Given the description of an element on the screen output the (x, y) to click on. 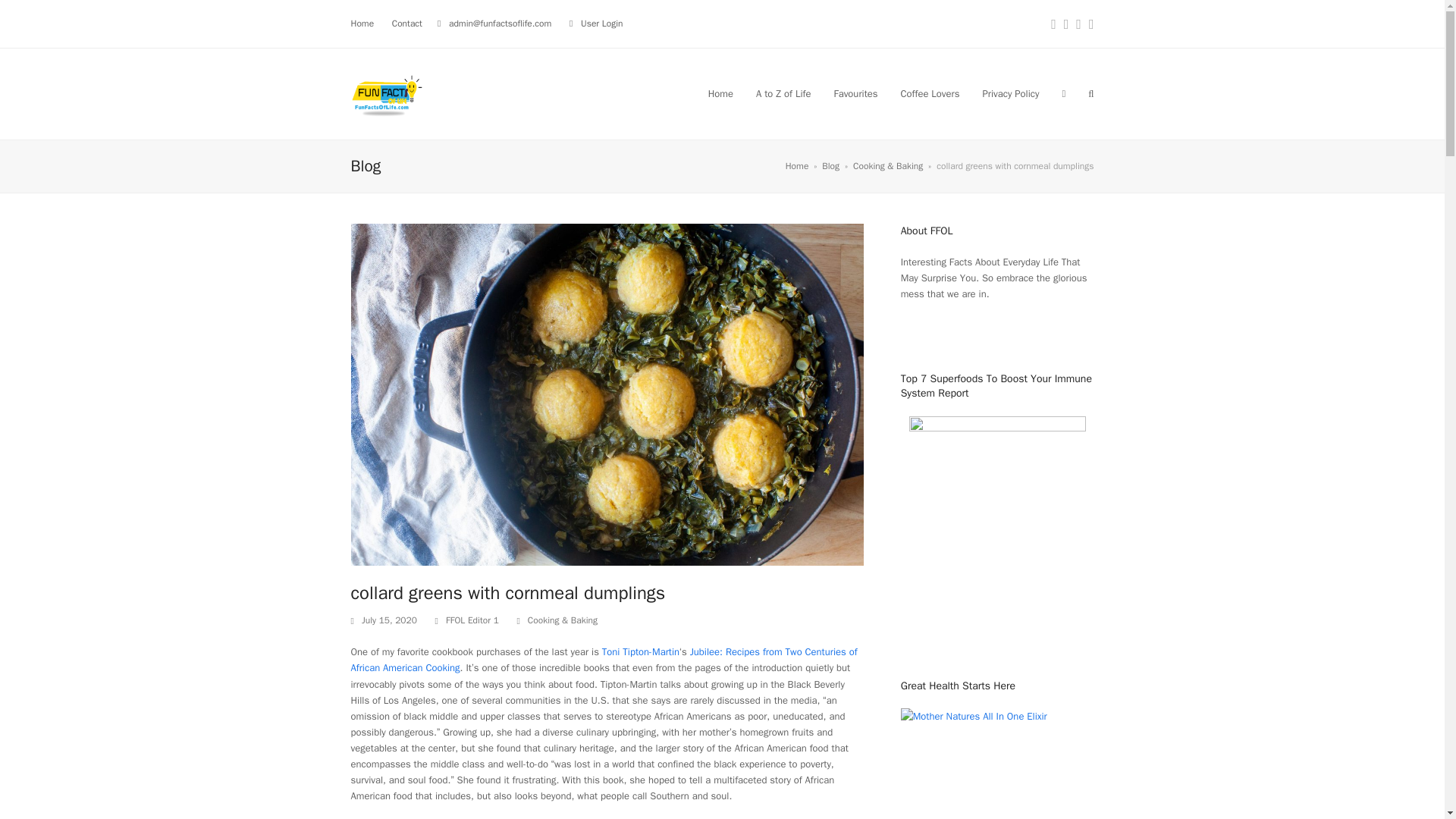
FFOL Editor 1 (472, 620)
User Login (601, 23)
Toni Tipton-Martin (640, 651)
Home (797, 165)
Blog (831, 165)
Posts by FFOL Editor 1 (472, 620)
Favourites (855, 94)
Home (362, 23)
Contact (406, 23)
Privacy Policy (1010, 94)
A to Z of Life (783, 94)
Home (720, 94)
Download Your FREE Report Today (997, 427)
Coffee Lovers (930, 94)
